Given the description of an element on the screen output the (x, y) to click on. 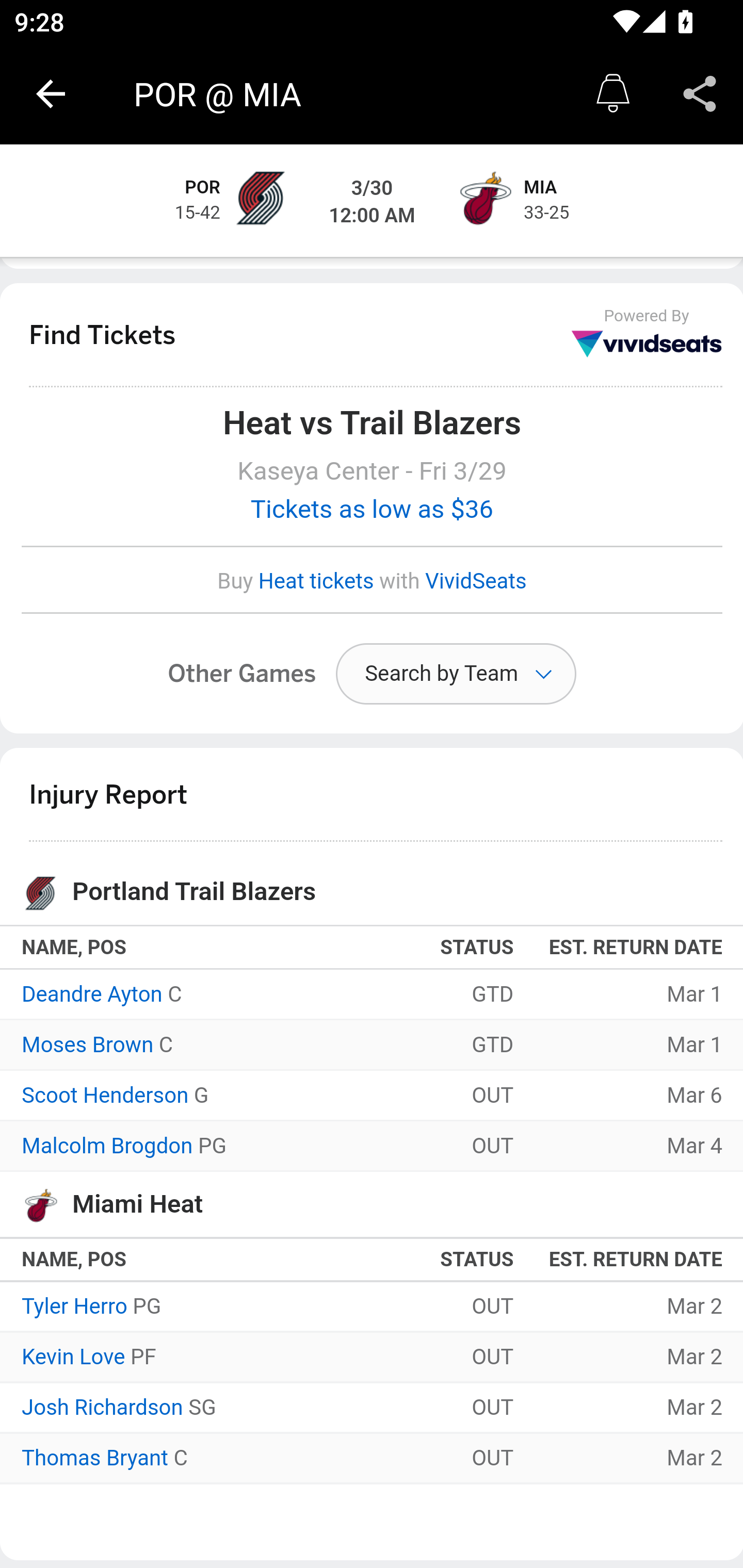
Navigate up (50, 93)
Alerts í (612, 93)
Share (699, 93)
Portland Trail Blazers (260, 201)
Miami Heat (483, 201)
POR (203, 188)
MIA (540, 188)
Powered By VividSeats Powered By VividSeats (646, 334)
Tickets as low as $36 (372, 509)
Heat tickets (315, 581)
VividSeats (475, 581)
Search by Team (455, 674)
Deandre Ayton (92, 994)
Moses Brown (88, 1046)
Scoot Henderson (105, 1096)
Malcolm Brogdon (107, 1146)
Tyler Herro (74, 1307)
Kevin Love (73, 1358)
Josh Richardson (102, 1408)
Thomas Bryant (95, 1458)
